Given the description of an element on the screen output the (x, y) to click on. 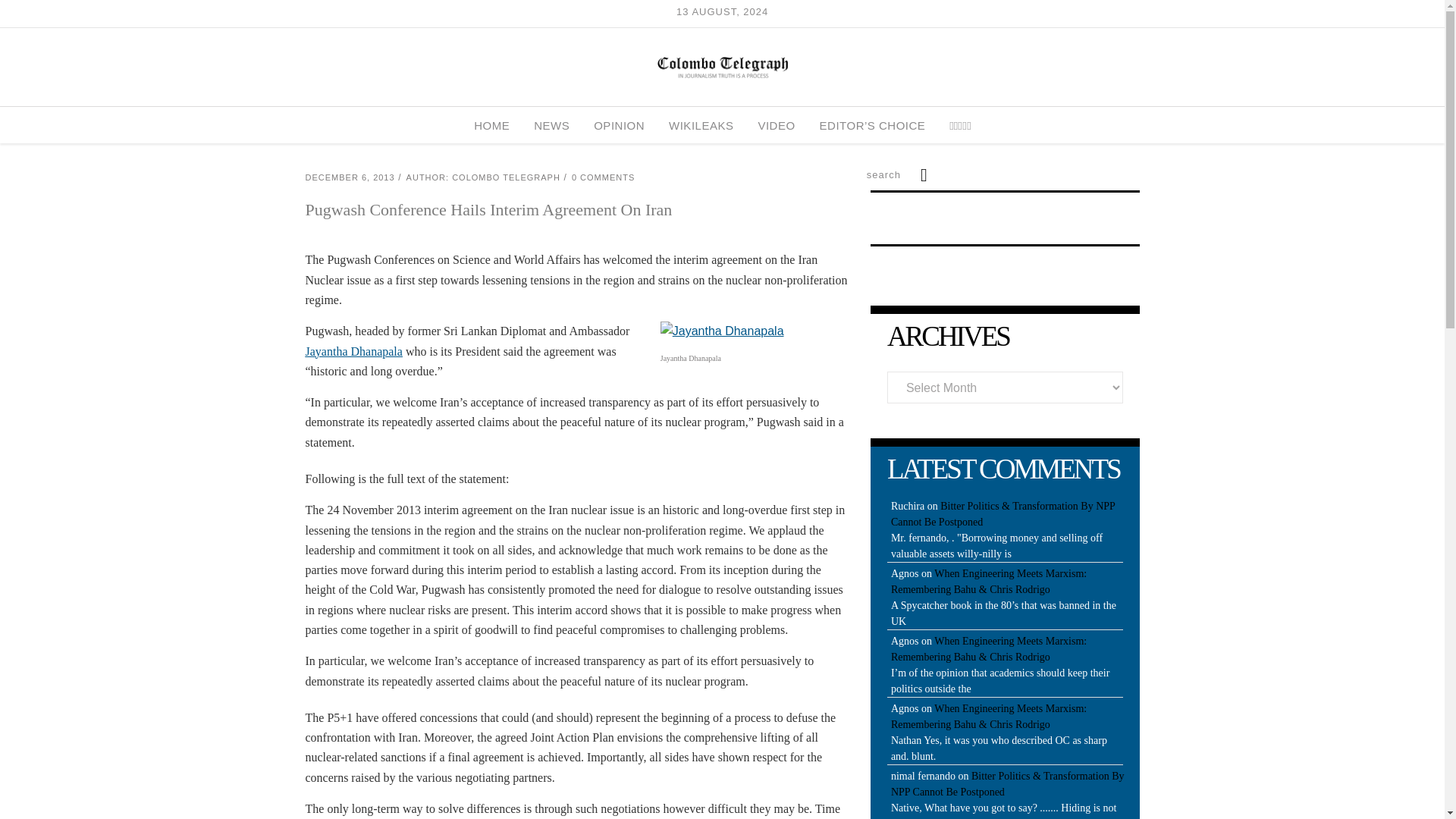
OPINION (618, 125)
VIDEO (775, 125)
DECEMBER 6, 2013 (349, 176)
Jayantha Dhanapala (352, 350)
NEWS (550, 125)
HOME (491, 125)
AUTHOR: COLOMBO TELEGRAPH (483, 176)
WIKILEAKS (700, 125)
0 COMMENTS (603, 176)
